Given the description of an element on the screen output the (x, y) to click on. 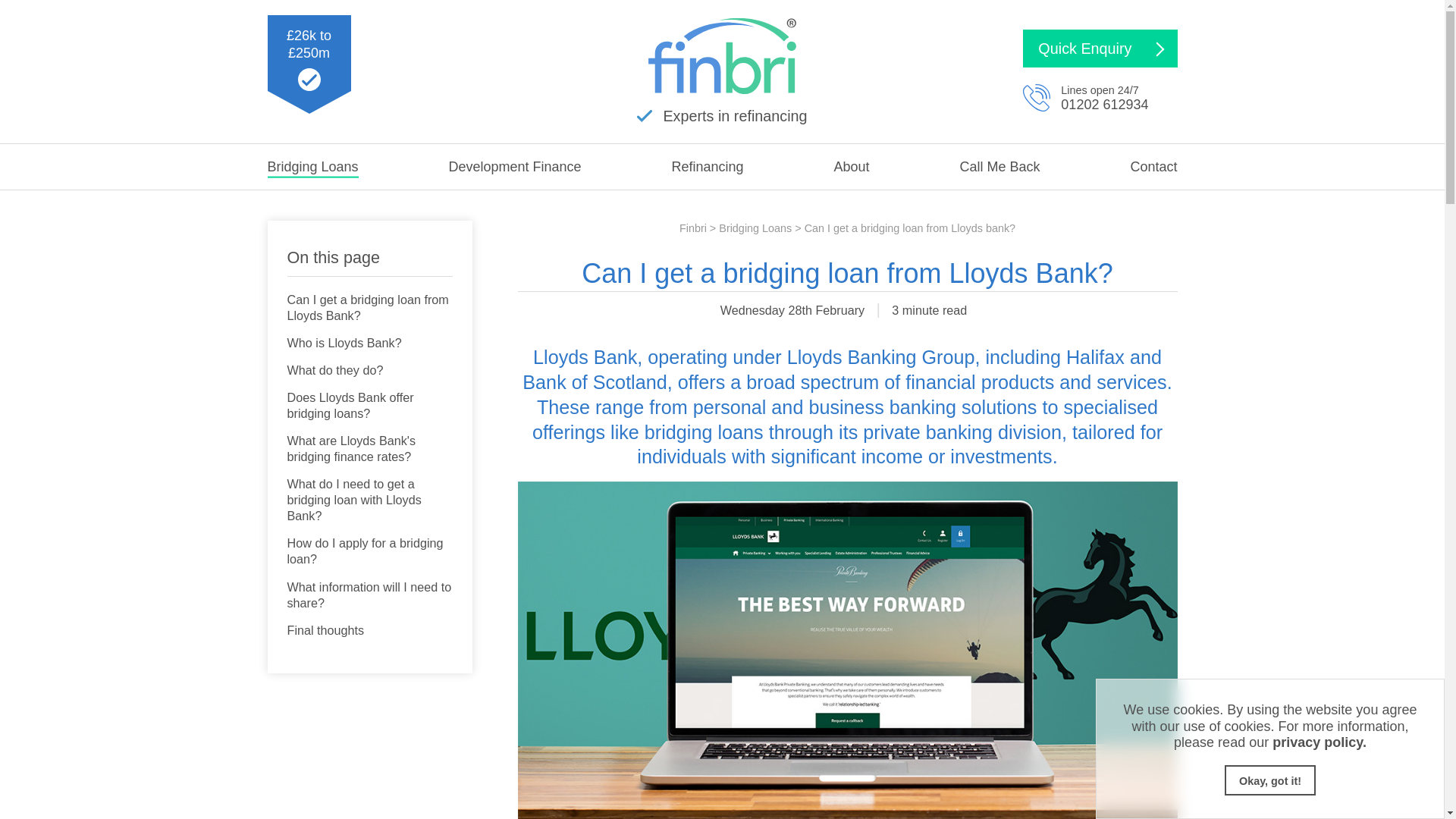
How do I apply for a bridging loan? (368, 552)
Finbri (692, 227)
What do I need to get a bridging loan with Lloyds Bank? (368, 500)
Bridging Loans (312, 167)
Does Lloyds Bank offer bridging loans? (368, 406)
What do they do? (334, 371)
Refinancing (707, 167)
01202 612934 (1104, 104)
Can I get a bridging loan from Lloyds Bank? (368, 308)
What are Lloyds Bank's bridging finance rates? (368, 449)
Bridging Loans (312, 167)
What information will I need to share? (368, 596)
How do I apply for a bridging loan? (368, 552)
What are Lloyds Bank's bridging finance rates? (368, 449)
Who is Lloyds Bank? (343, 343)
